Given the description of an element on the screen output the (x, y) to click on. 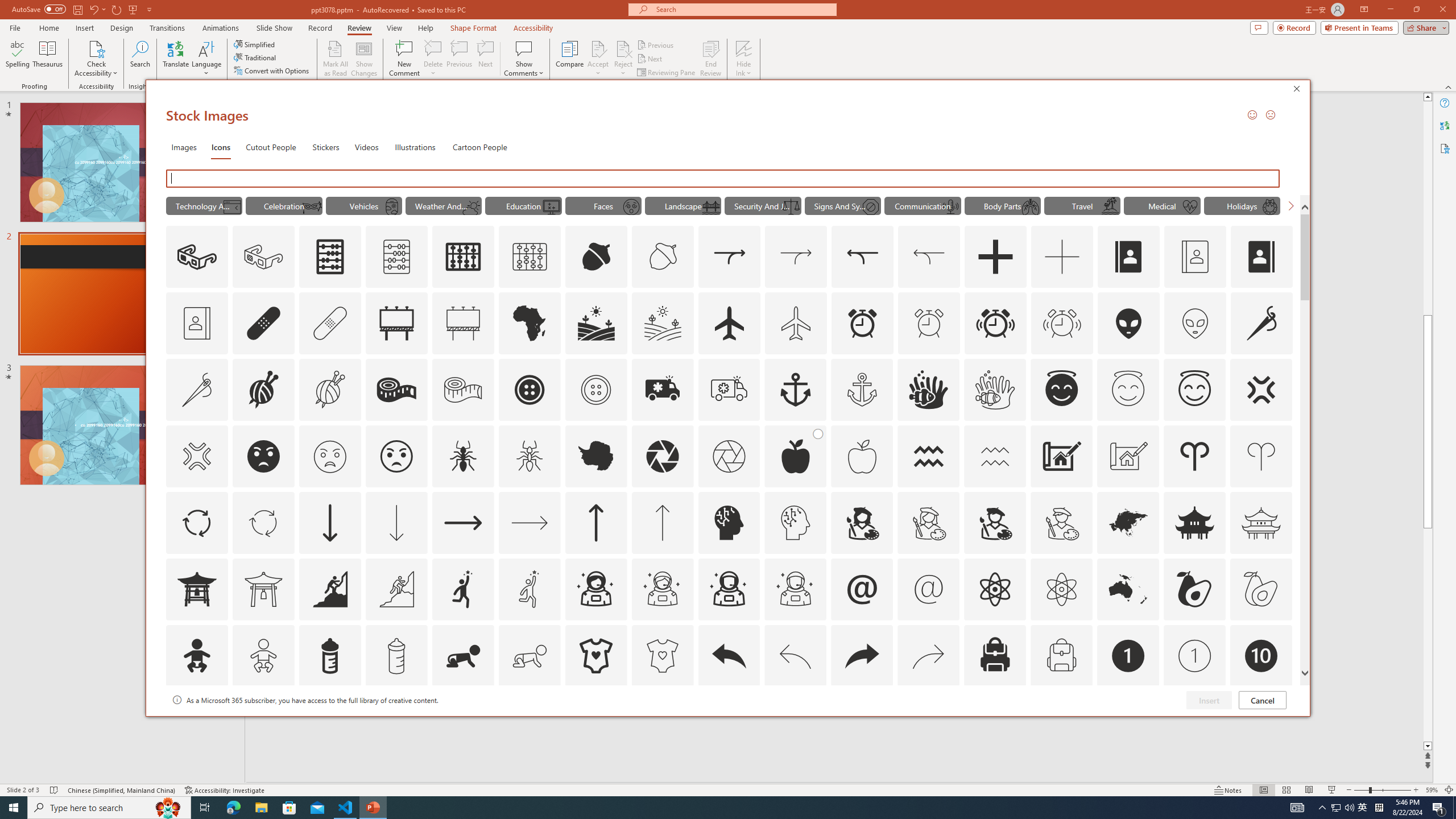
AutomationID: Icons_Advertising_M (462, 323)
AutomationID: Icons_Backpack (995, 655)
AutomationID: Icons_AsianTemple1 (196, 588)
"Celebration" Icons. (283, 205)
Compare (569, 58)
